Given the description of an element on the screen output the (x, y) to click on. 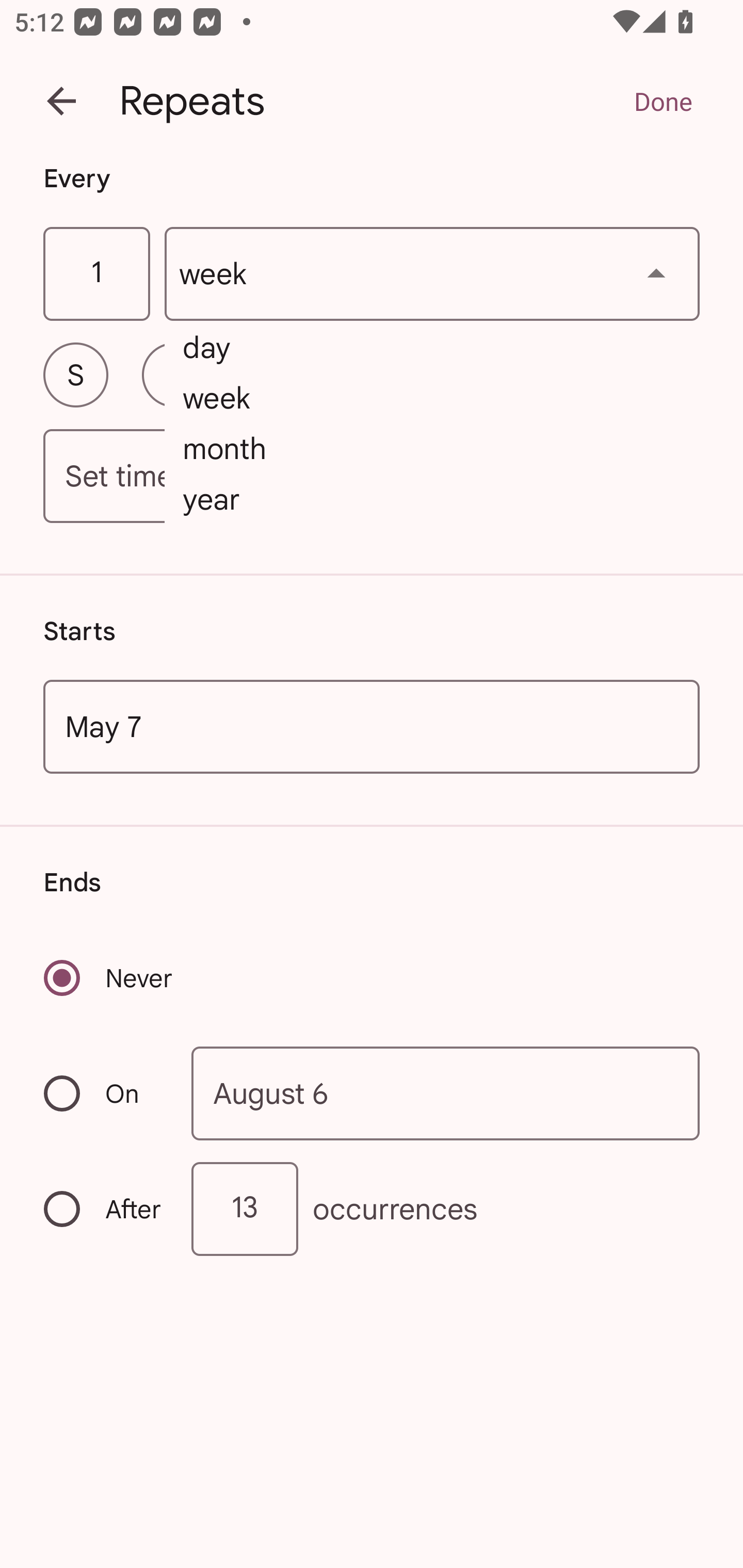
Back (61, 101)
Done (663, 101)
1 (96, 274)
week (431, 274)
Show dropdown menu (655, 273)
S Sunday (75, 374)
Set time (371, 476)
May 7 (371, 726)
Never Recurrence never ends (109, 978)
August 6 (445, 1092)
On Recurrence ends on a specific date (104, 1093)
13 (244, 1208)
